Given the description of an element on the screen output the (x, y) to click on. 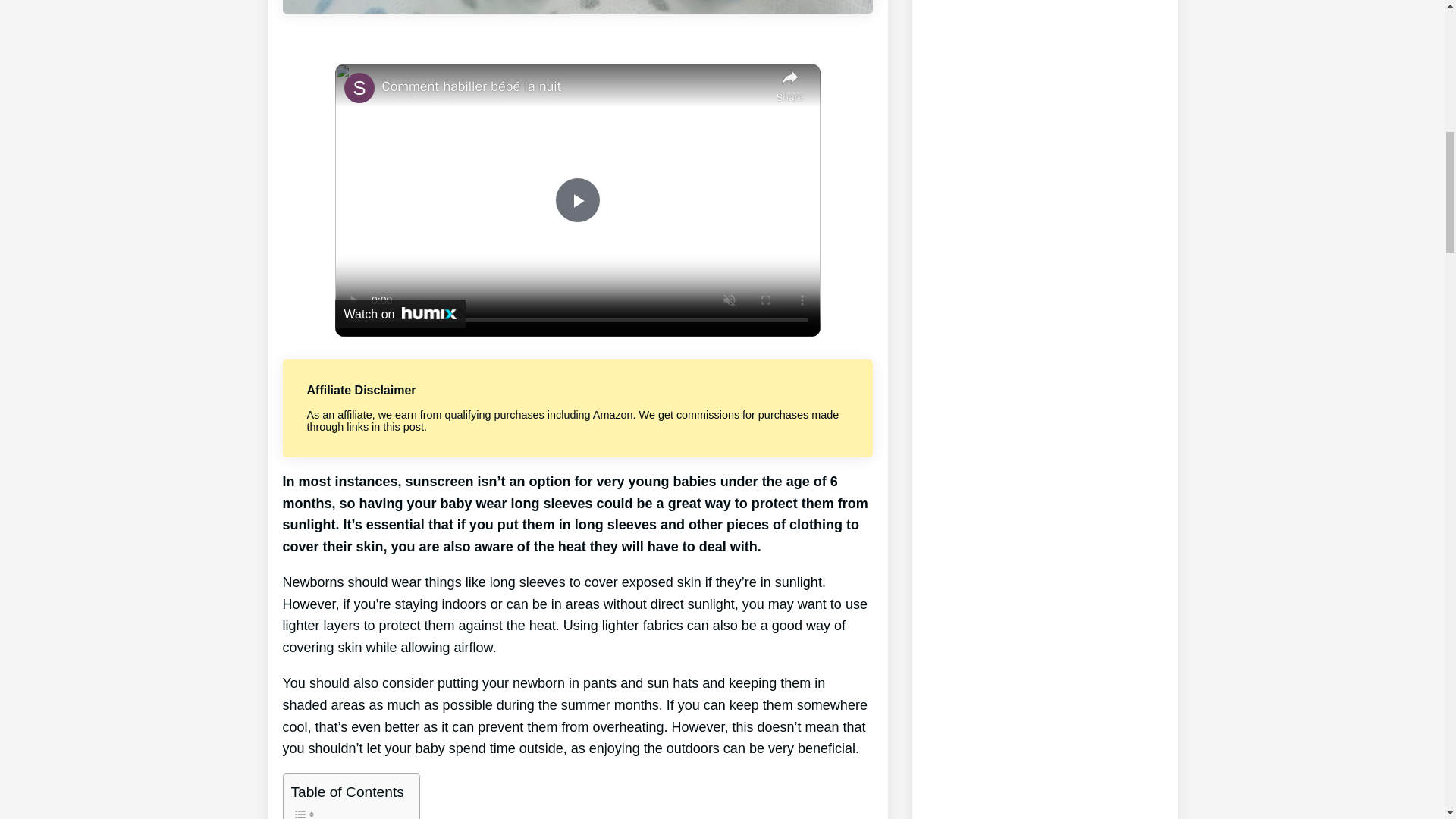
Watch on (399, 313)
Play Video (576, 199)
Play Video (576, 199)
